Given the description of an element on the screen output the (x, y) to click on. 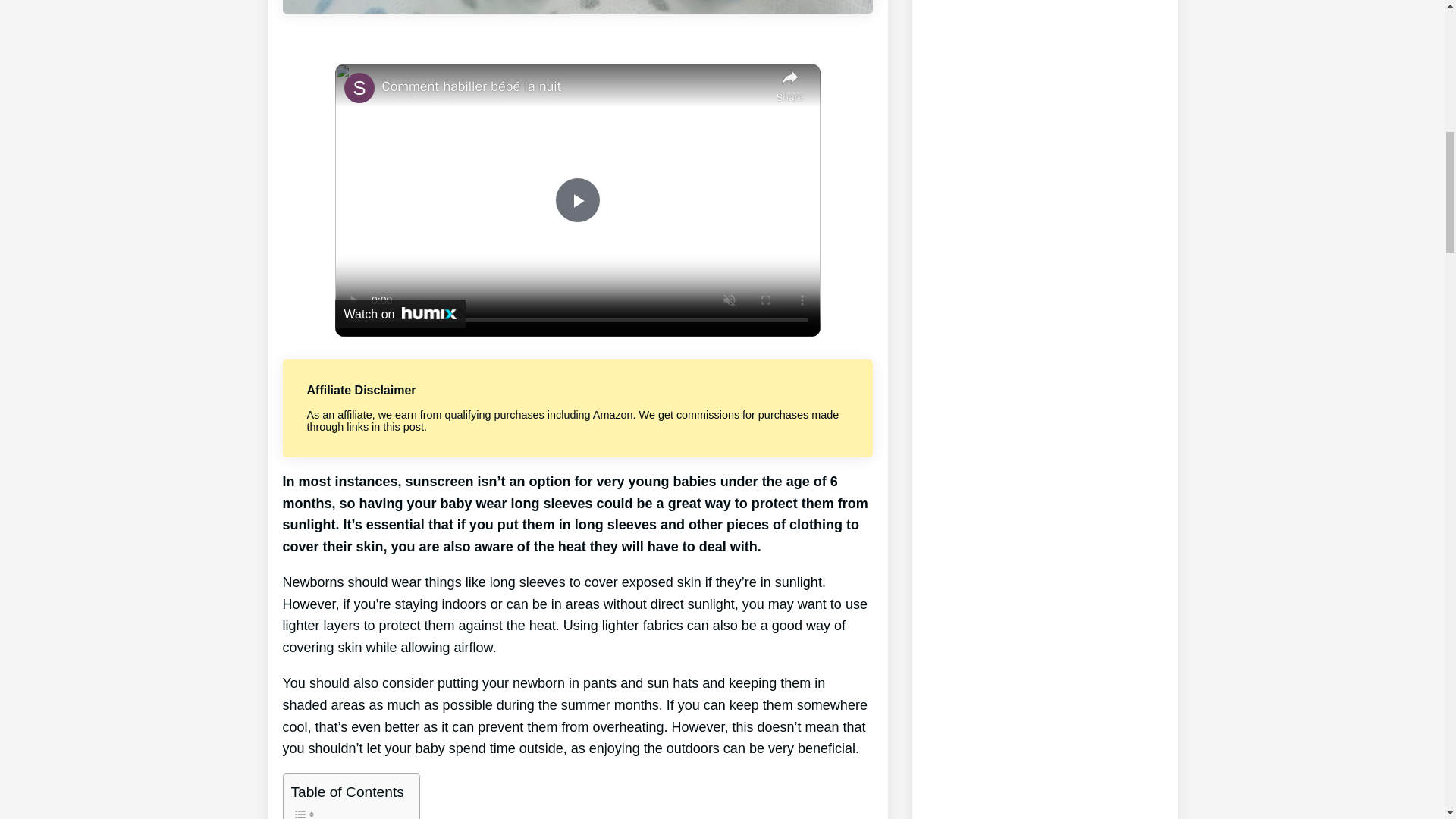
Watch on (399, 313)
Play Video (576, 199)
Play Video (576, 199)
